Given the description of an element on the screen output the (x, y) to click on. 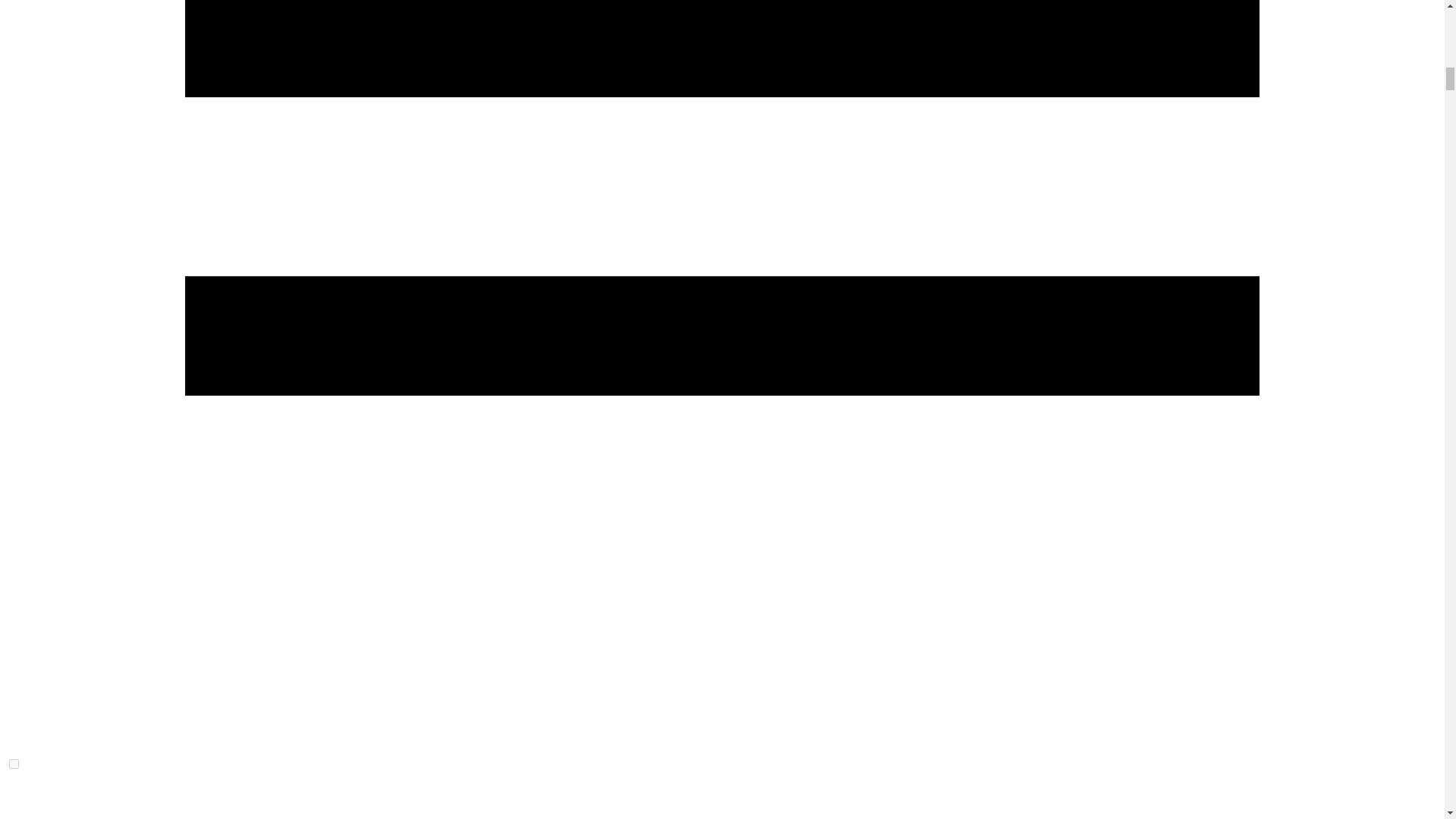
on (13, 764)
